Given the description of an element on the screen output the (x, y) to click on. 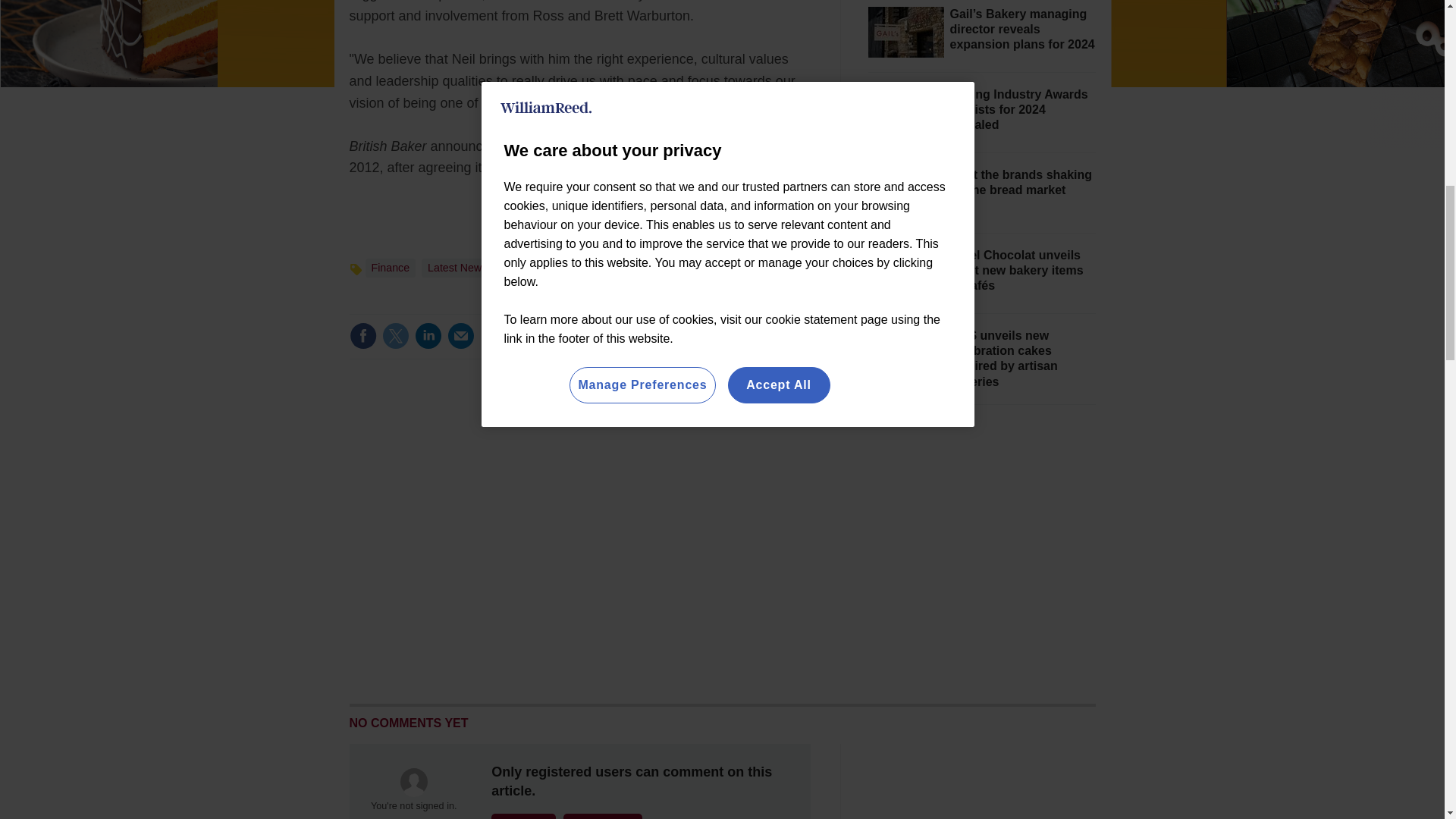
No comments (759, 344)
Share this on Facebook (362, 335)
Share this on Linked in (427, 335)
Email this article (460, 335)
Share this on Twitter (395, 335)
